Given the description of an element on the screen output the (x, y) to click on. 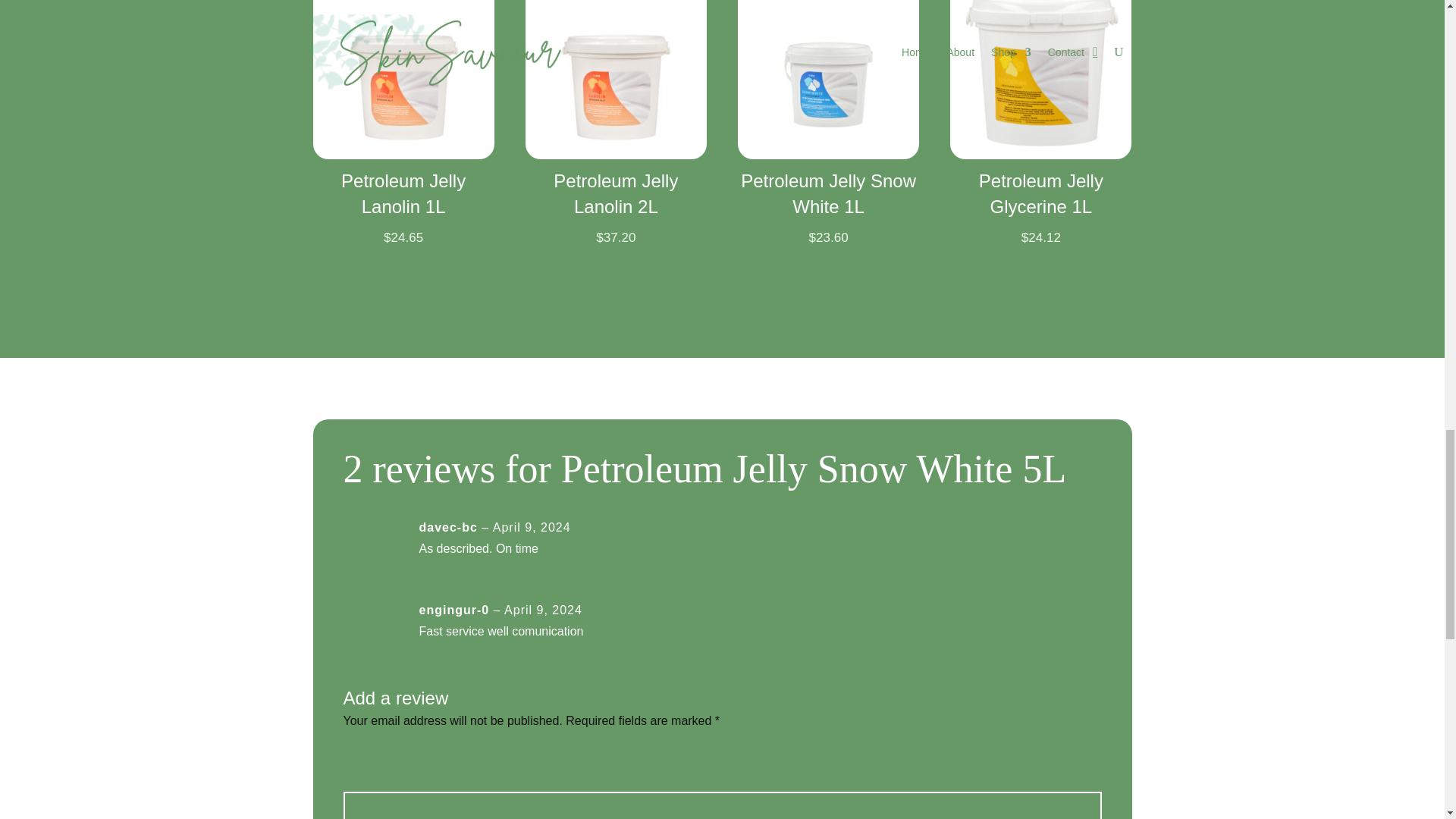
1 (348, 756)
